Given the description of an element on the screen output the (x, y) to click on. 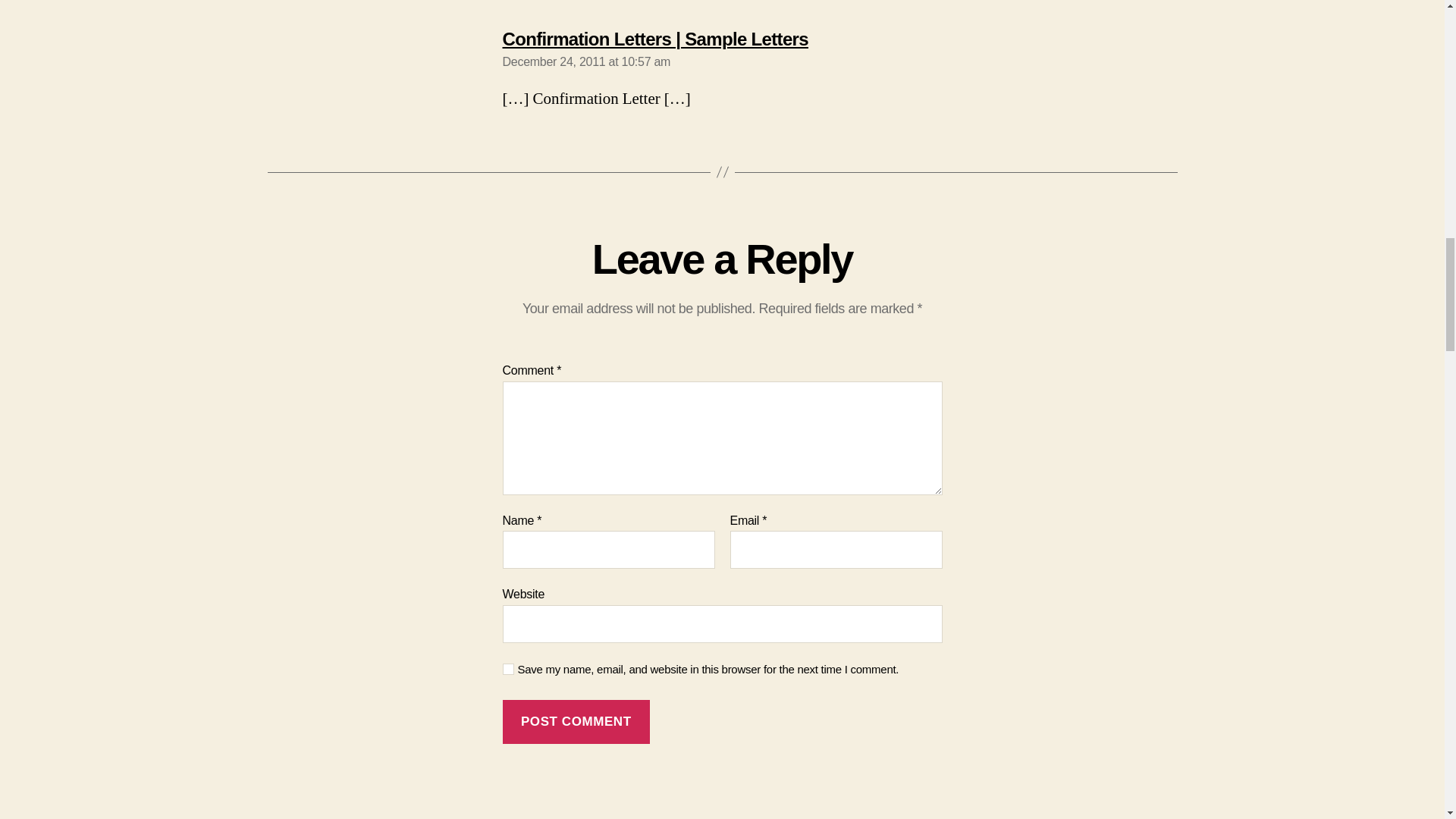
Post Comment (575, 722)
December 24, 2011 at 10:57 am (585, 61)
December 24, 2011 at 10:57 am (585, 61)
Post Comment (575, 722)
yes (507, 668)
